Given the description of an element on the screen output the (x, y) to click on. 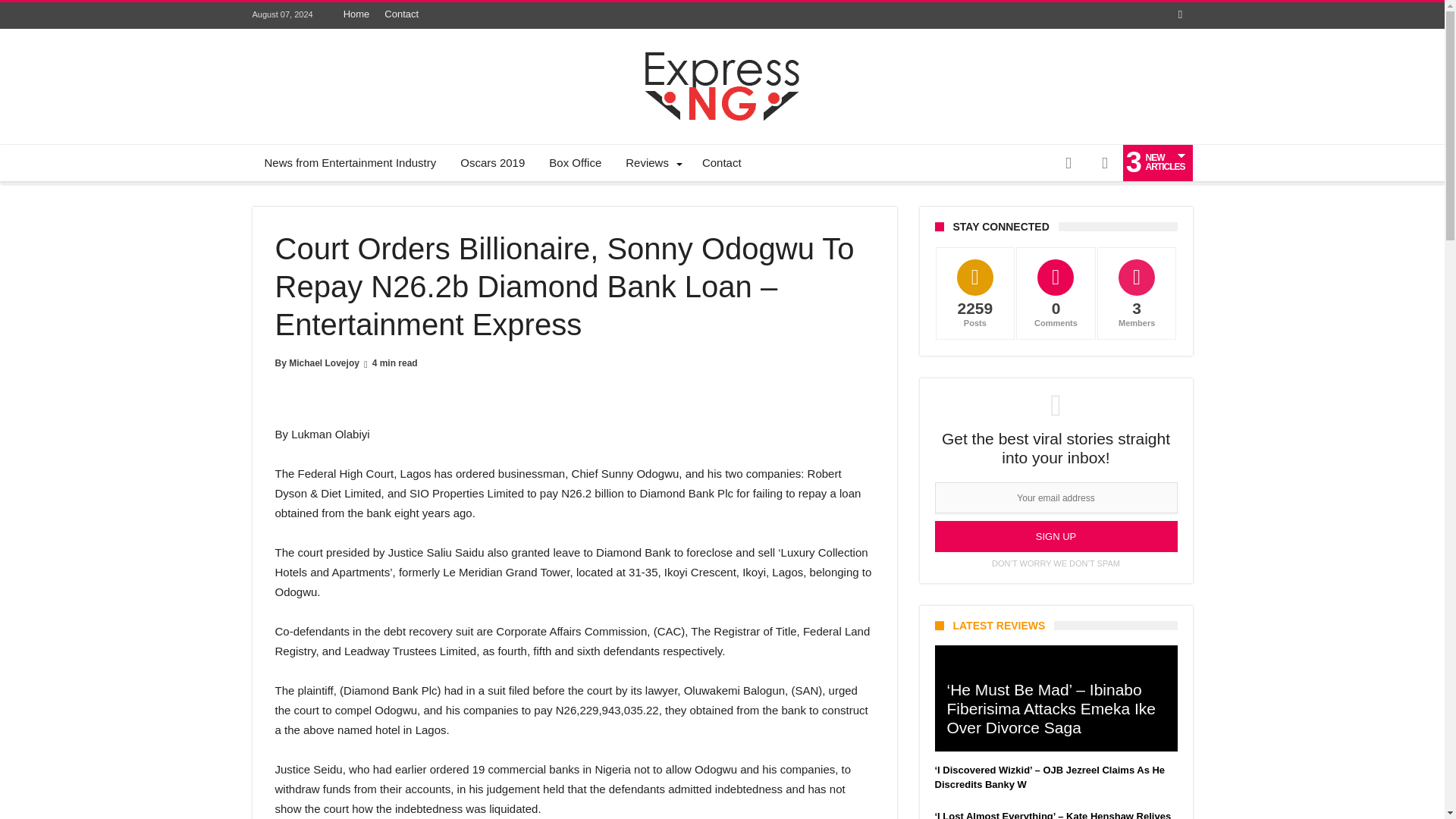
Facebook (1179, 15)
Michael Lovejoy (323, 363)
Oscars 2019 (492, 162)
Entertainment Express (722, 50)
Home (356, 14)
Contact (722, 162)
Box Office (574, 162)
News from Entertainment Industry (349, 162)
Sign up (1055, 536)
Contact (401, 14)
Reviews (651, 162)
